Given the description of an element on the screen output the (x, y) to click on. 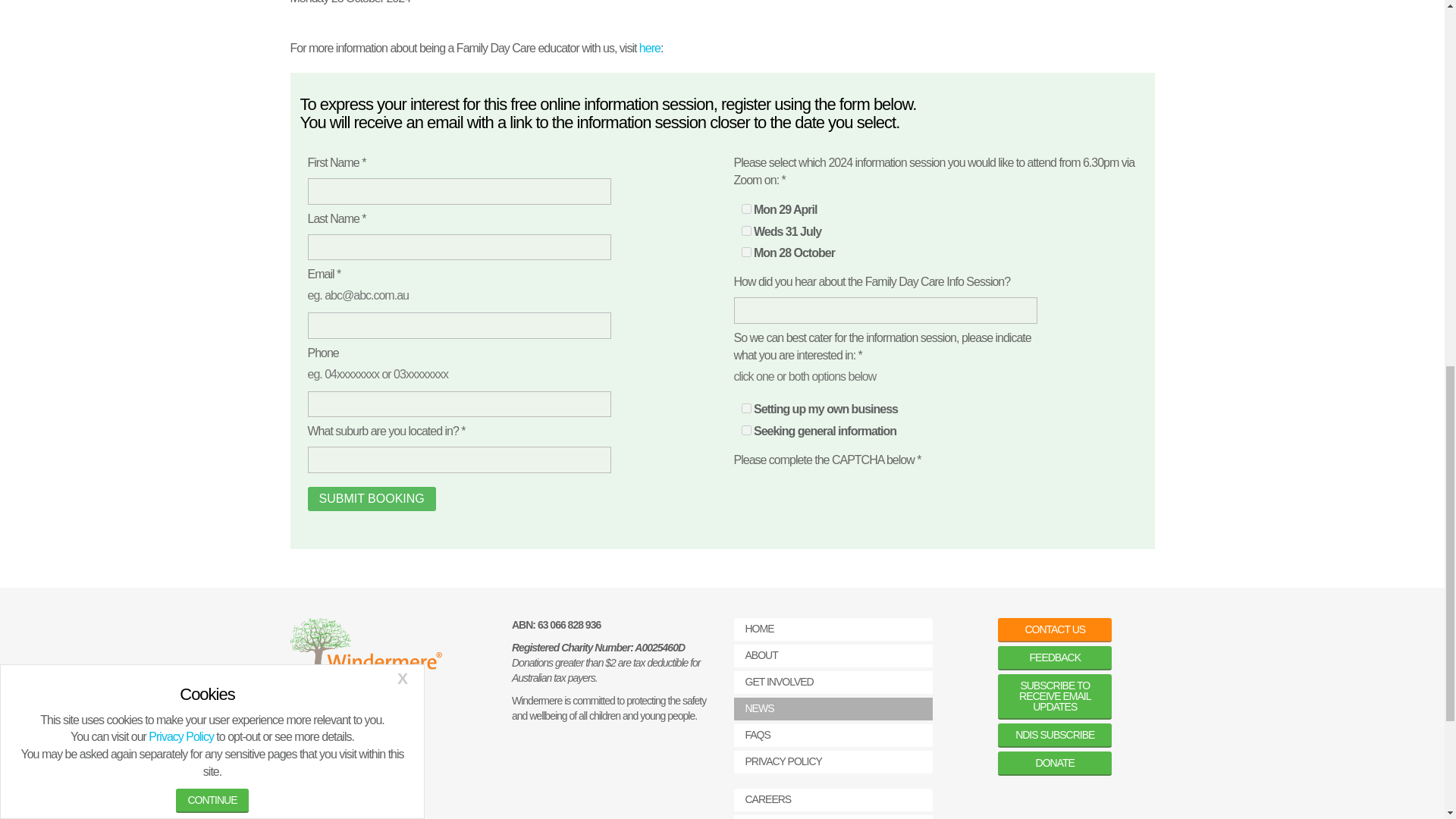
Mon 28 October (746, 252)
Submit Booking (371, 498)
Weds 31 July (746, 230)
Mon 29 April (746, 208)
Setting up my own business (746, 408)
Seeking general information (746, 429)
